Given the description of an element on the screen output the (x, y) to click on. 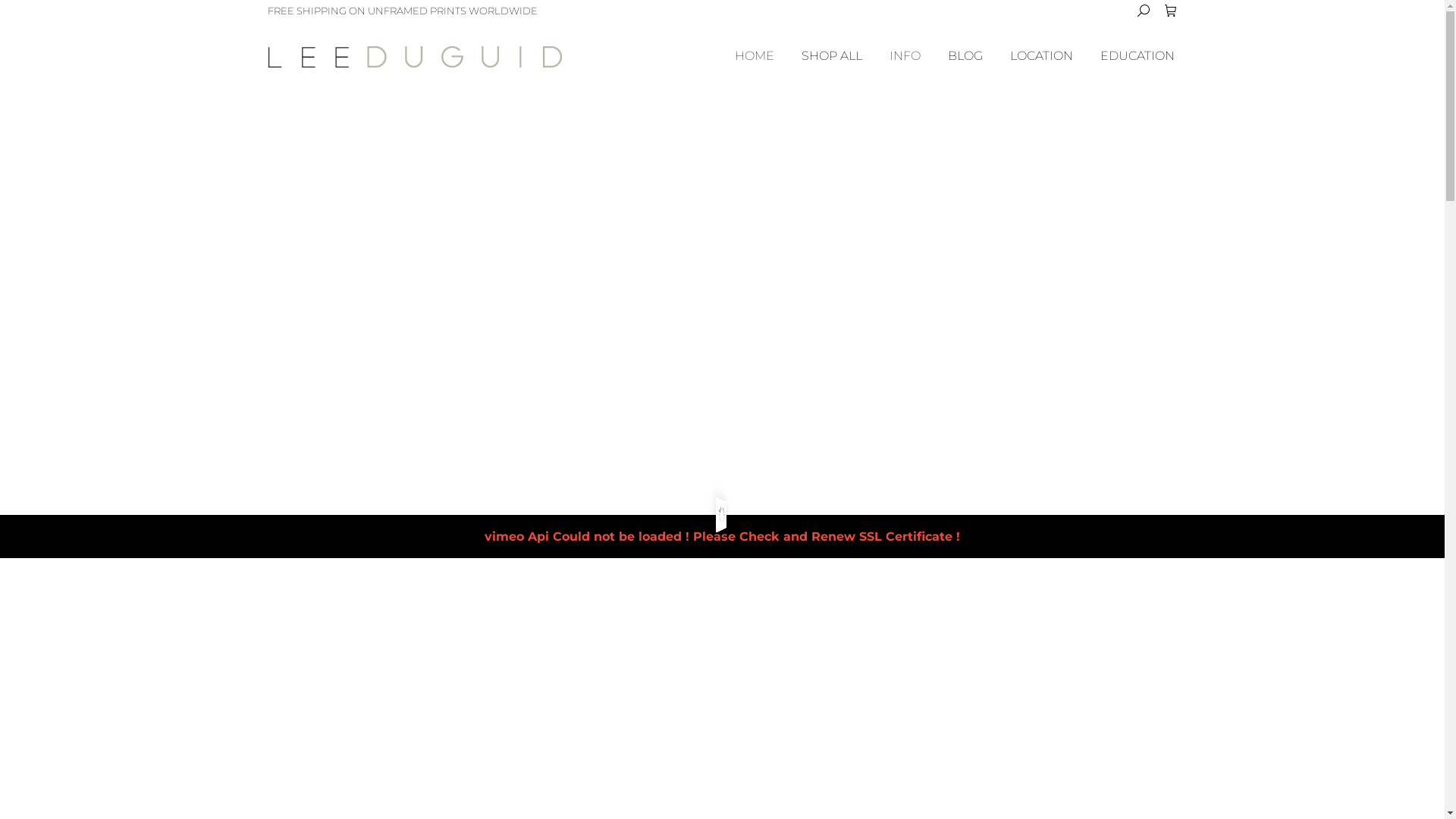
Go! Element type: text (23, 16)
EDUCATION Element type: text (1136, 55)
  Element type: text (1170, 10)
LOCATION Element type: text (1041, 55)
Subscribe Element type: text (211, 121)
SHOP ALL Element type: text (830, 55)
HOME Element type: text (753, 55)
INFO Element type: text (903, 55)
BLOG Element type: text (964, 55)
